Given the description of an element on the screen output the (x, y) to click on. 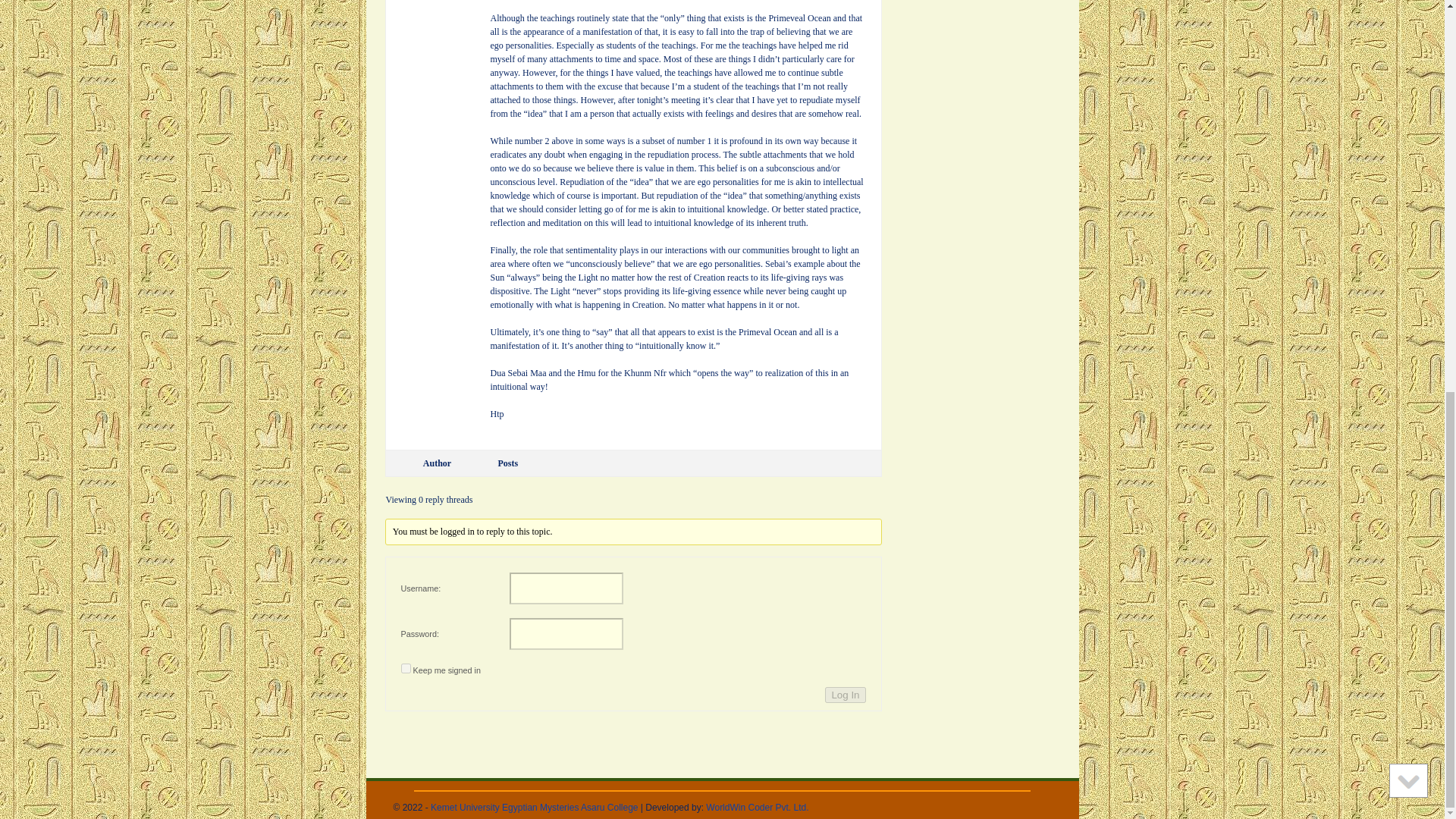
forever (405, 668)
